Given the description of an element on the screen output the (x, y) to click on. 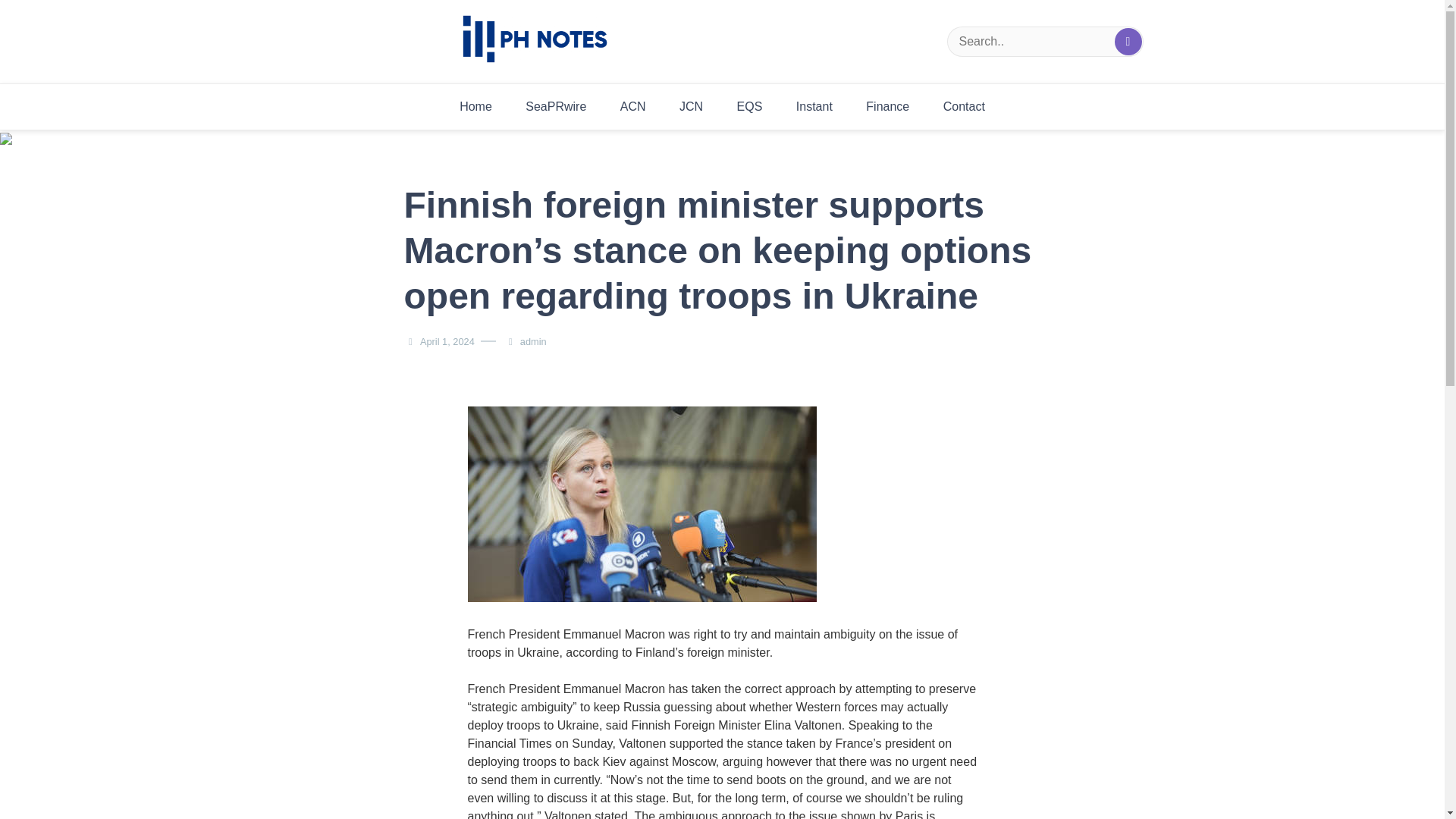
SeaPRwire (556, 106)
EQS (749, 106)
Philippines Notes (574, 92)
JCN (690, 106)
Home (475, 106)
Contact (964, 106)
ACN (633, 106)
admin (533, 341)
April 1, 2024 (447, 341)
Finance (887, 106)
Instant (813, 106)
